Given the description of an element on the screen output the (x, y) to click on. 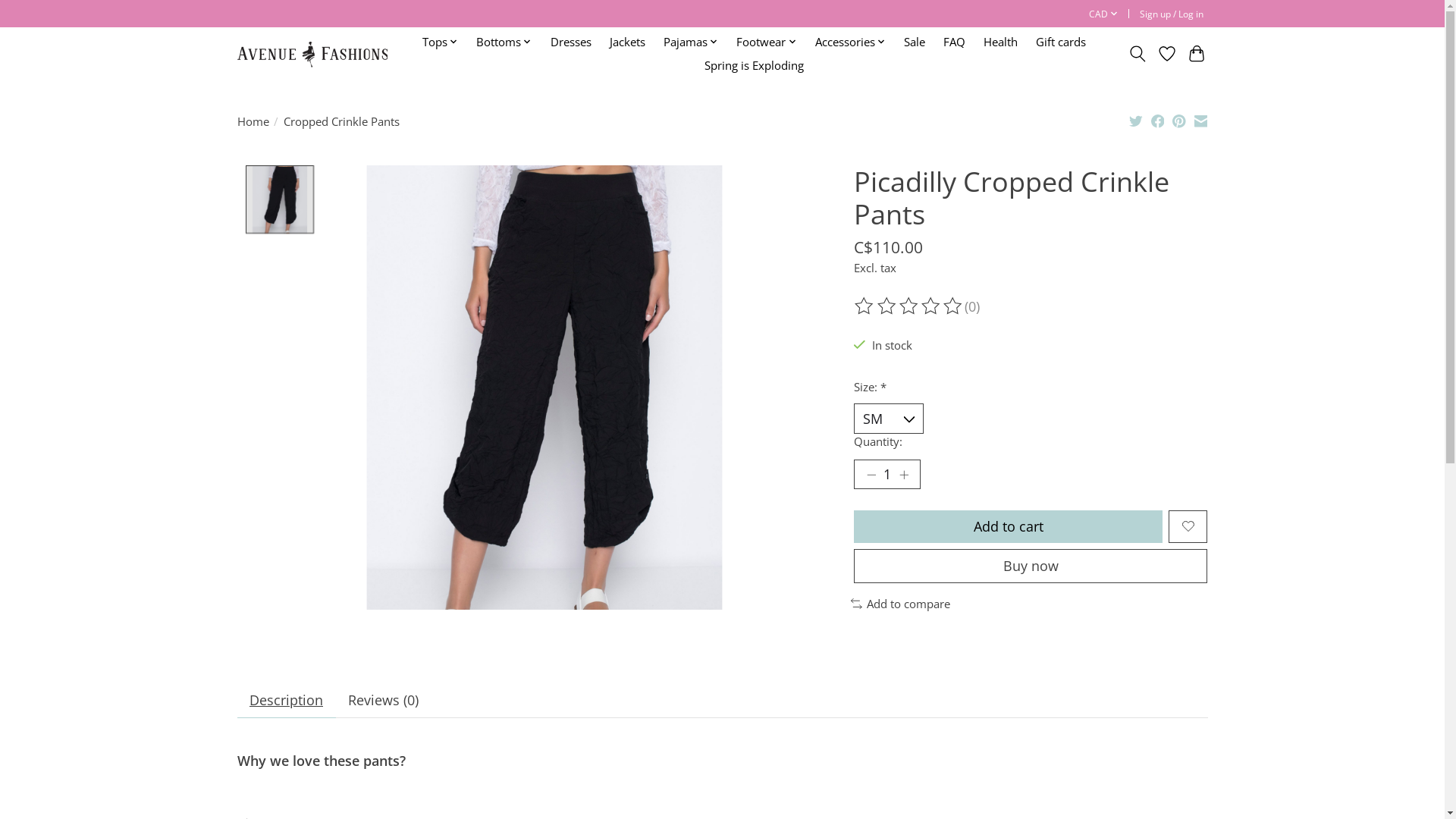
Jackets Element type: text (626, 41)
Pajamas Element type: text (690, 41)
Add to cart Element type: text (1007, 526)
Footwear Element type: text (766, 41)
Sign up / Log in Element type: text (1171, 13)
Health Element type: text (1000, 41)
Accessories Element type: text (850, 41)
Sale Element type: text (914, 41)
FAQ Element type: text (954, 41)
Share on Twitter Element type: text (1135, 122)
Buy now Element type: text (1030, 566)
Description Element type: text (285, 700)
Gift cards Element type: text (1060, 41)
Share by Email Element type: text (1201, 122)
Home Element type: text (252, 120)
Tops Element type: text (439, 41)
CAD Element type: text (1103, 13)
Add to compare Element type: text (900, 603)
Spring is Exploding Element type: text (754, 65)
Bottoms Element type: text (503, 41)
Reviews (0) Element type: text (382, 700)
Share on Facebook Element type: text (1157, 122)
Dresses Element type: text (570, 41)
Share on Pinterest Element type: text (1179, 122)
